Given the description of an element on the screen output the (x, y) to click on. 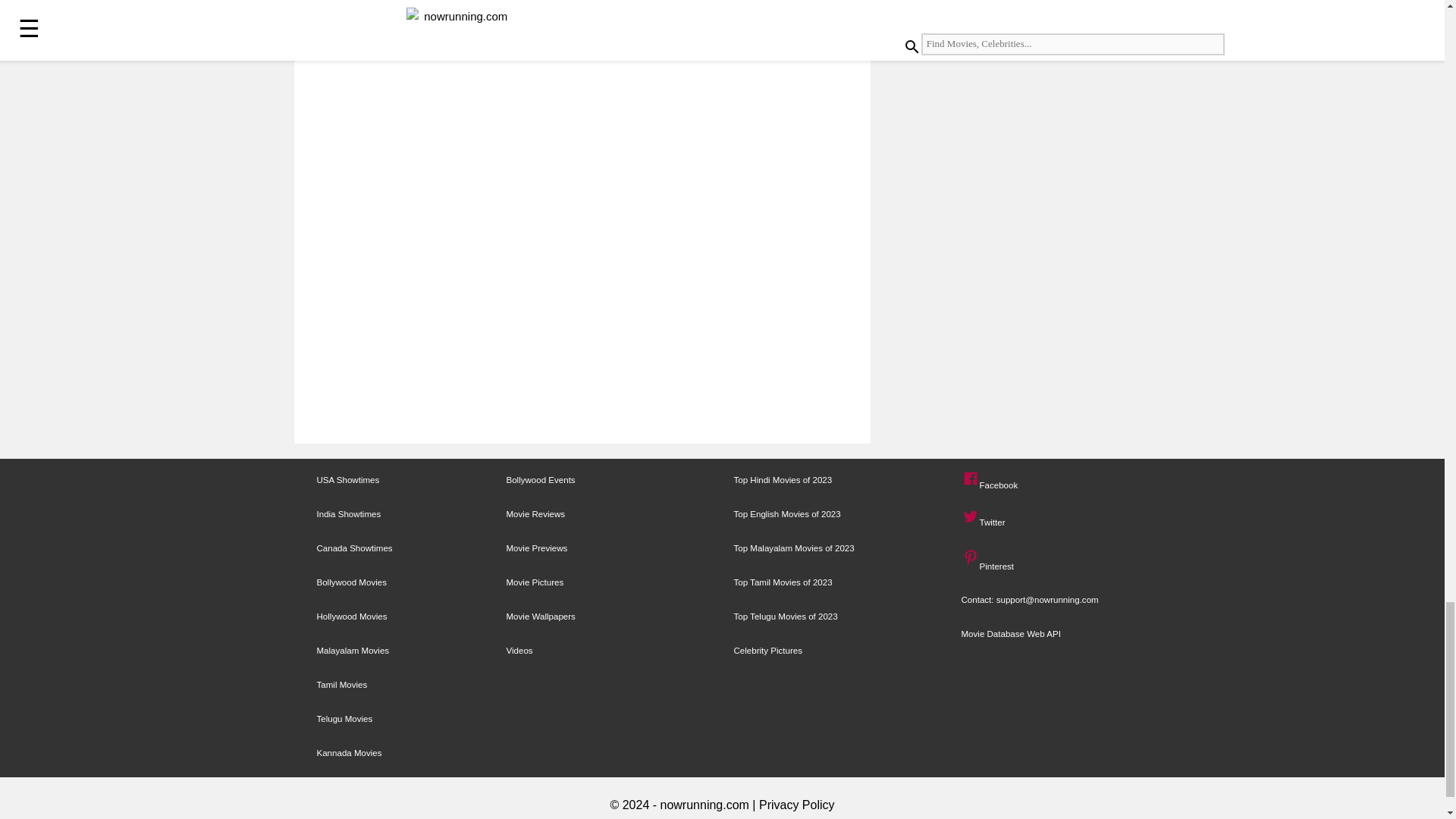
Malayalam Movies (353, 650)
Tamil Movies (342, 684)
Hollywood Movies (352, 615)
Facebook (969, 479)
Twitter (969, 516)
India Showtimes (349, 513)
USA Showtimes (348, 479)
Canada Showtimes (355, 547)
Bollywood Movies (352, 582)
